Given the description of an element on the screen output the (x, y) to click on. 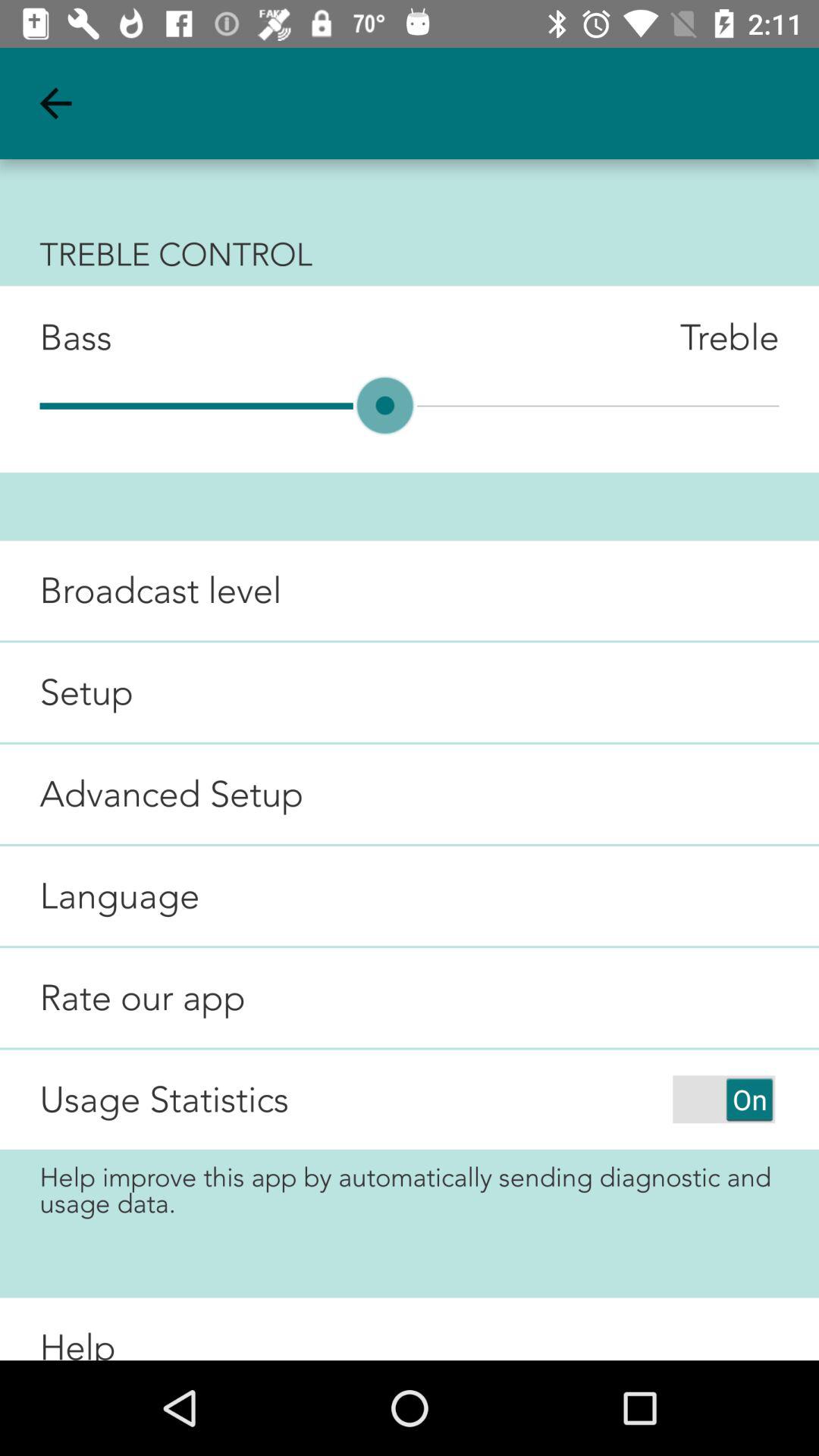
toggle automatic error reports (723, 1099)
